Given the description of an element on the screen output the (x, y) to click on. 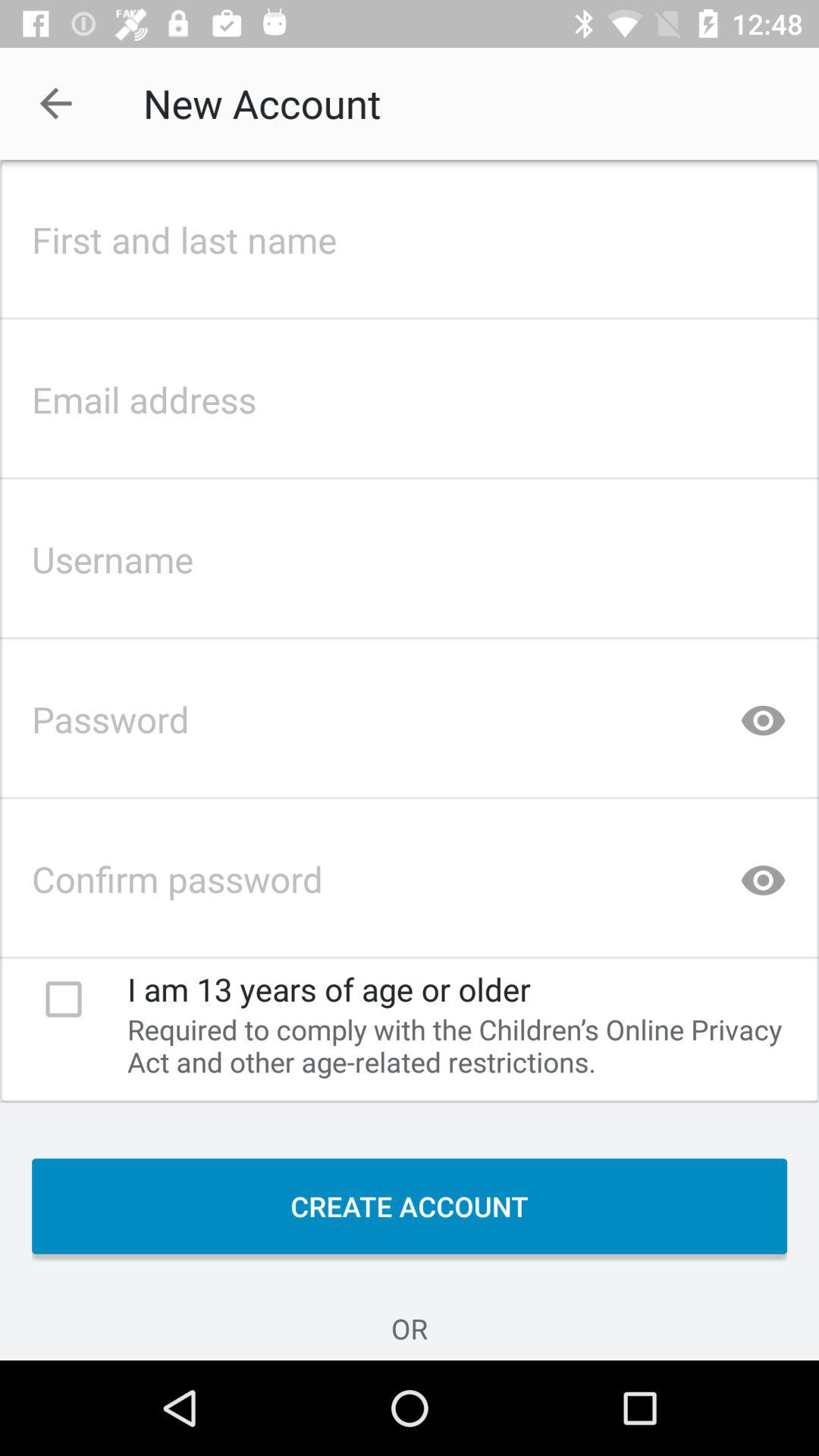
toggle user name (409, 554)
